Given the description of an element on the screen output the (x, y) to click on. 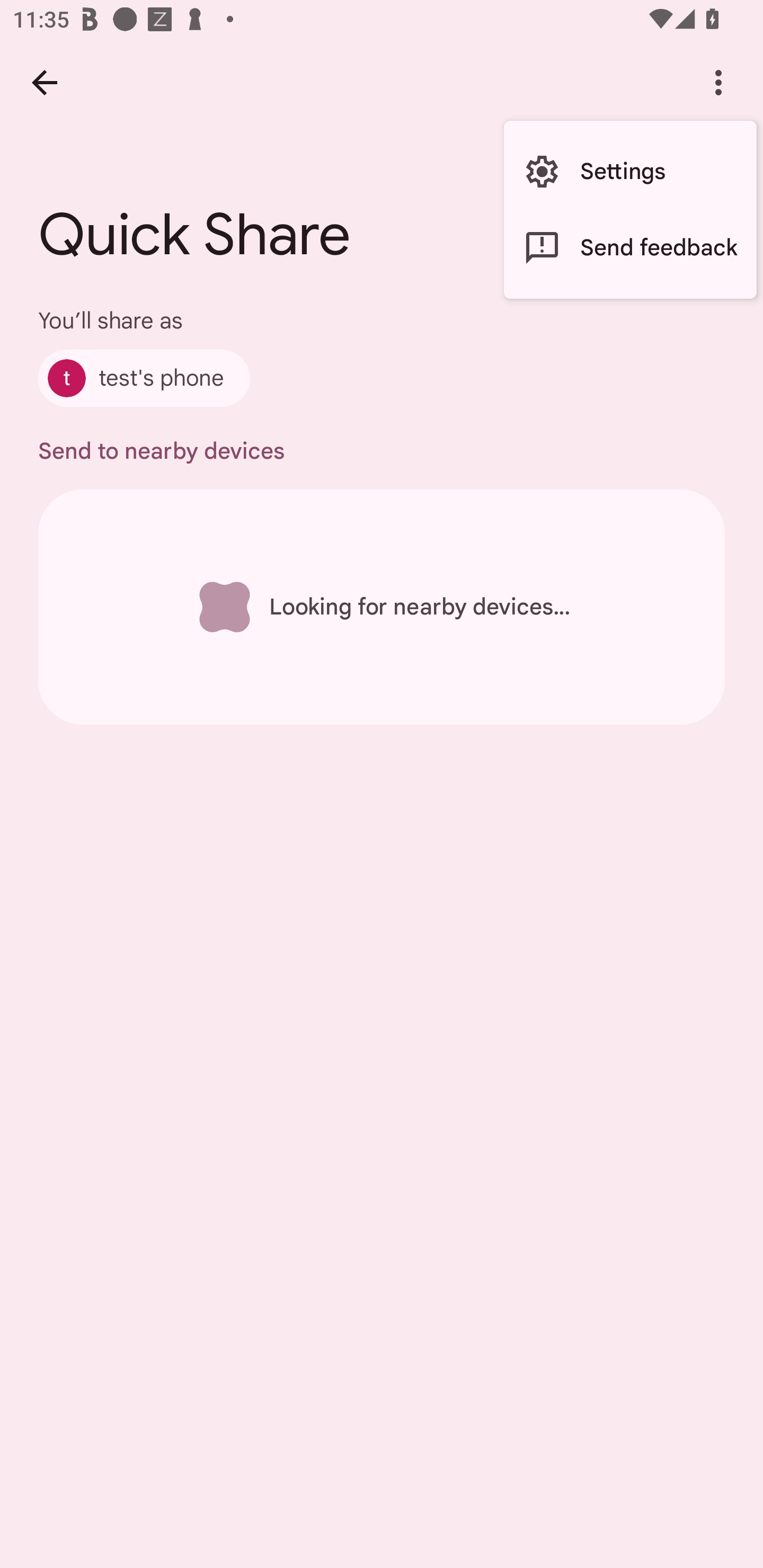
Settings (629, 171)
Send feedback (629, 247)
